Given the description of an element on the screen output the (x, y) to click on. 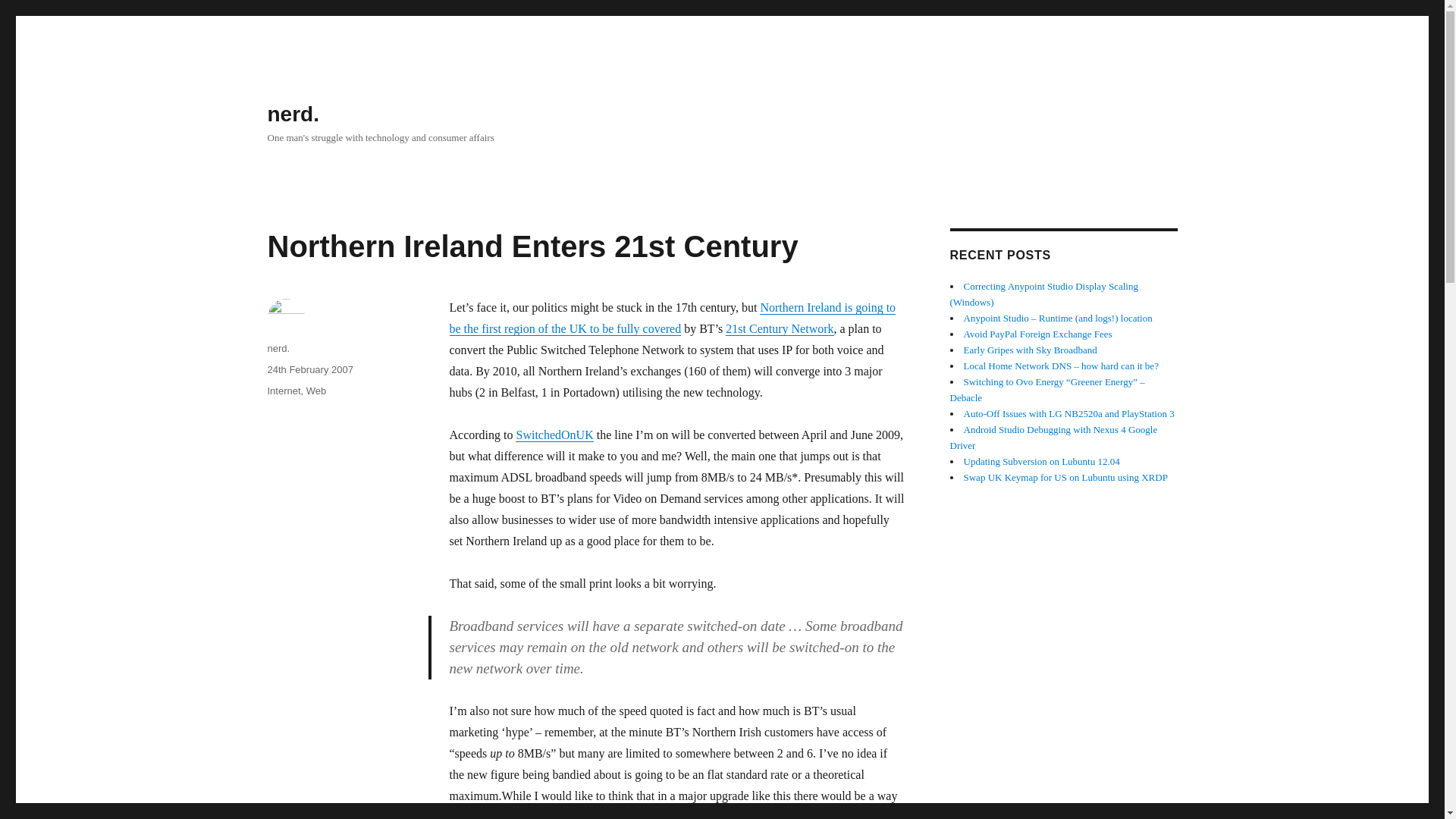
Updating Subversion on Lubuntu 12.04 (1040, 460)
Internet (282, 390)
24th March 2014 (1067, 413)
21st Century Network (778, 328)
11th May 2013 (1064, 477)
22nd February 2015 (1046, 389)
Avoid PayPal Foreign Exchange Fees (1037, 333)
14th November 2013 (1040, 460)
SwitchedOnUK (553, 434)
Swap UK Keymap for US on Lubuntu using XRDP (1064, 477)
Switched On (553, 434)
21 CN - BT corporate (778, 328)
nerd. (277, 348)
Android Studio Debugging with Nexus 4 Google Driver (1053, 437)
